Given the description of an element on the screen output the (x, y) to click on. 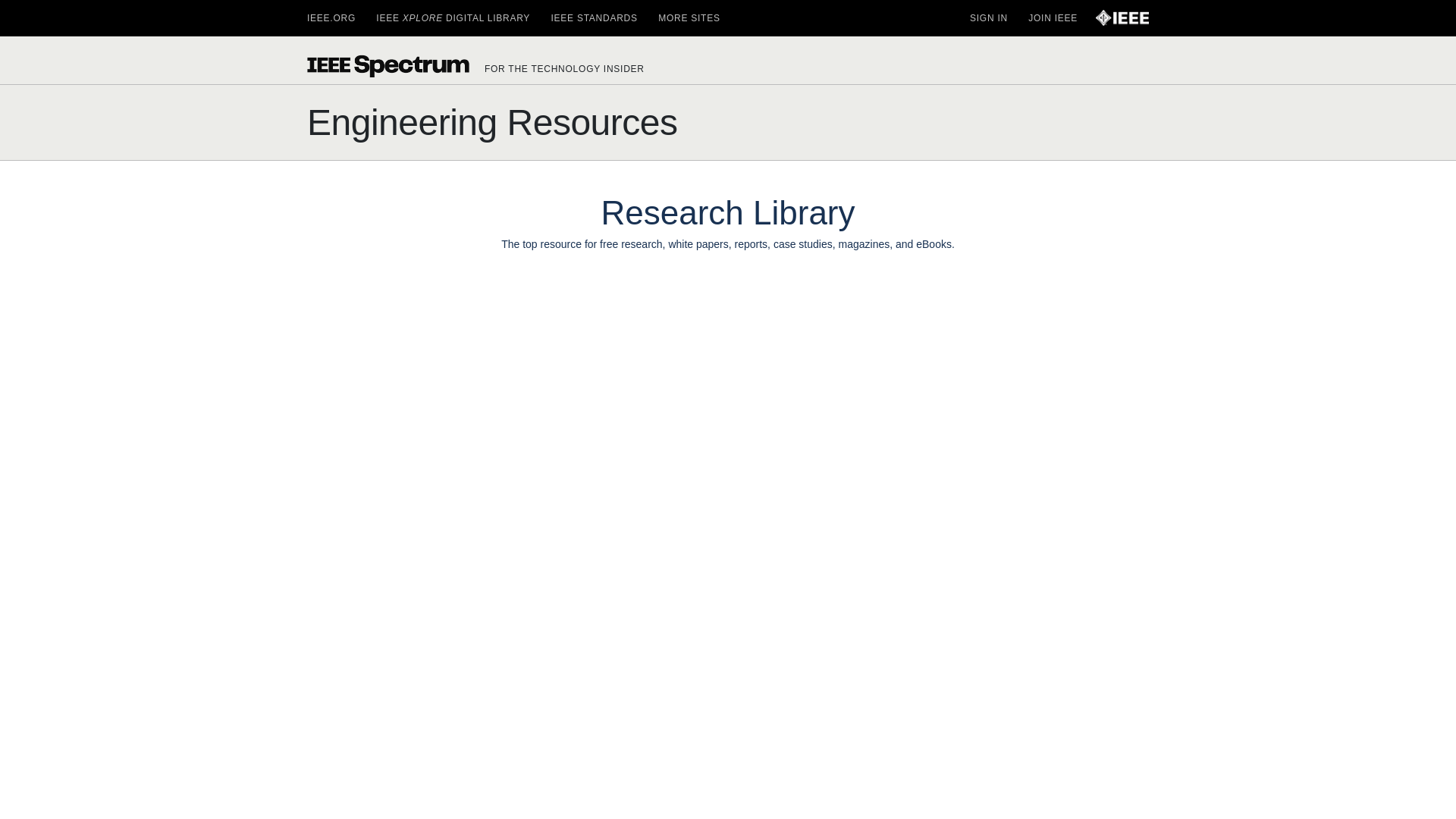
IEEE.ORG (331, 18)
MORE SITES (689, 18)
SIGN IN (988, 18)
IEEE STANDARDS (593, 18)
IEEE XPLORE DIGITAL LIBRARY (452, 18)
JOIN IEEE (1052, 18)
